Given the description of an element on the screen output the (x, y) to click on. 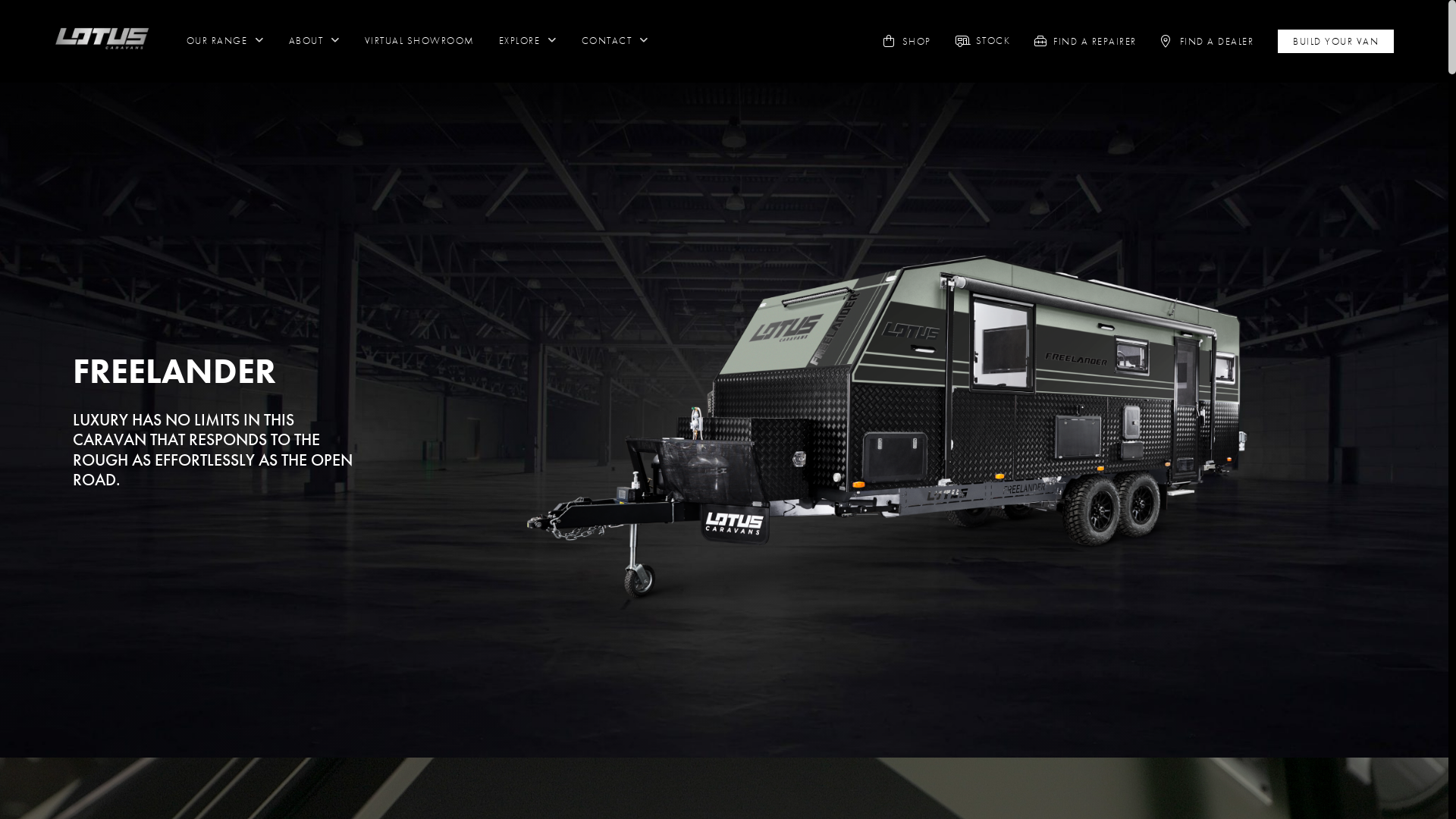
FIND A DEALER Element type: text (1216, 41)
FIND A REPAIRER Element type: text (1094, 41)
ABOUT Element type: text (314, 41)
VIRTUAL SHOWROOM Element type: text (419, 41)
EXPLORE Element type: text (527, 41)
SHOP Element type: text (916, 41)
OUR RANGE Element type: text (225, 41)
BUILD YOUR VAN Element type: text (1335, 41)
STOCK Element type: text (992, 41)
CONTACT Element type: text (615, 41)
